Given the description of an element on the screen output the (x, y) to click on. 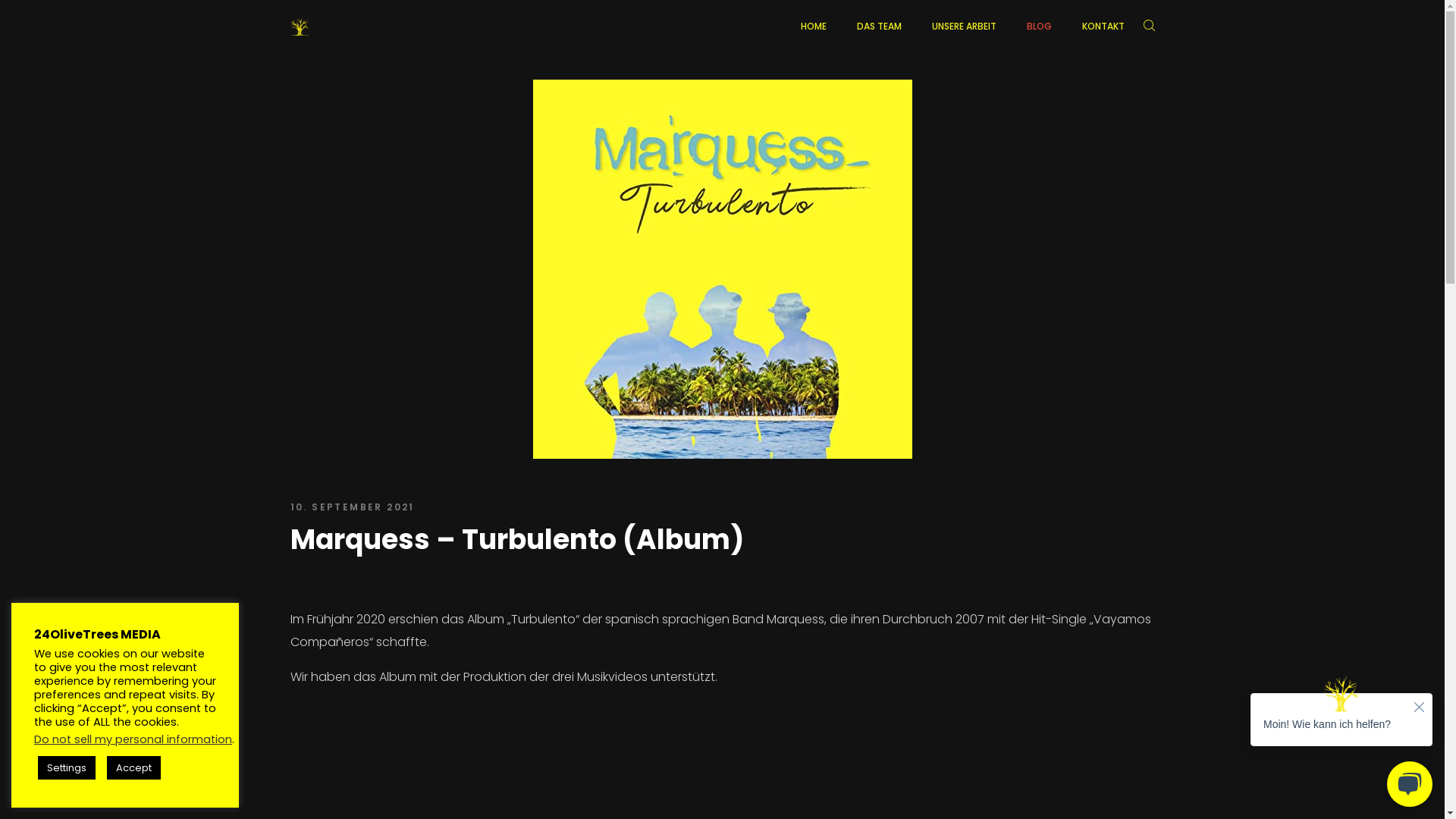
KONTAKT Element type: text (1102, 26)
Do not sell my personal information Element type: text (133, 738)
BLOG Element type: text (1038, 26)
Accept Element type: text (133, 767)
DAS TEAM Element type: text (878, 26)
HOME Element type: text (813, 26)
UNSERE ARBEIT Element type: text (963, 26)
Settings Element type: text (66, 767)
